Given the description of an element on the screen output the (x, y) to click on. 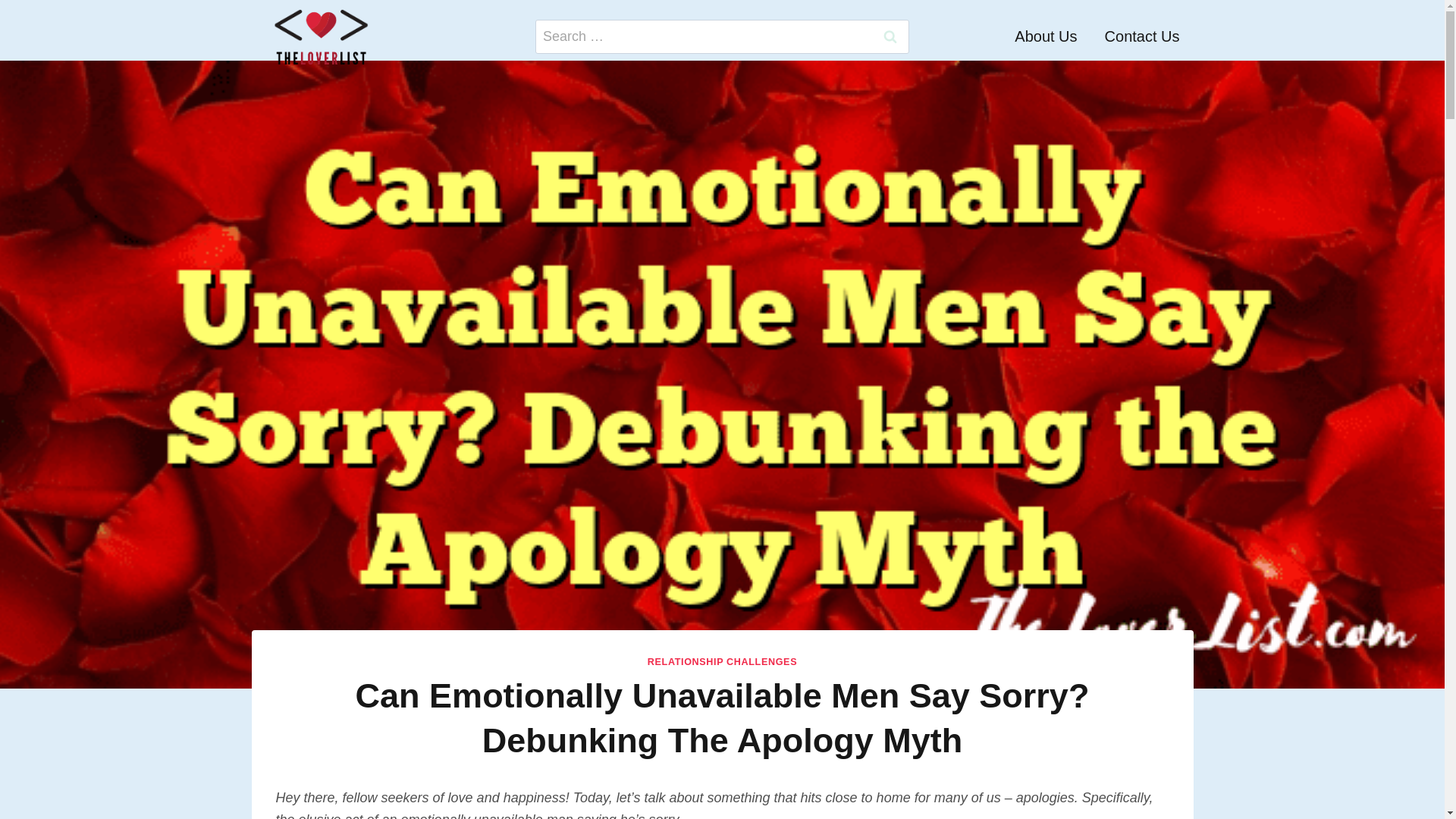
RELATIONSHIP CHALLENGES (721, 661)
Search (889, 36)
Search (889, 36)
About Us (1045, 36)
Contact Us (1141, 36)
Search (889, 36)
